Given the description of an element on the screen output the (x, y) to click on. 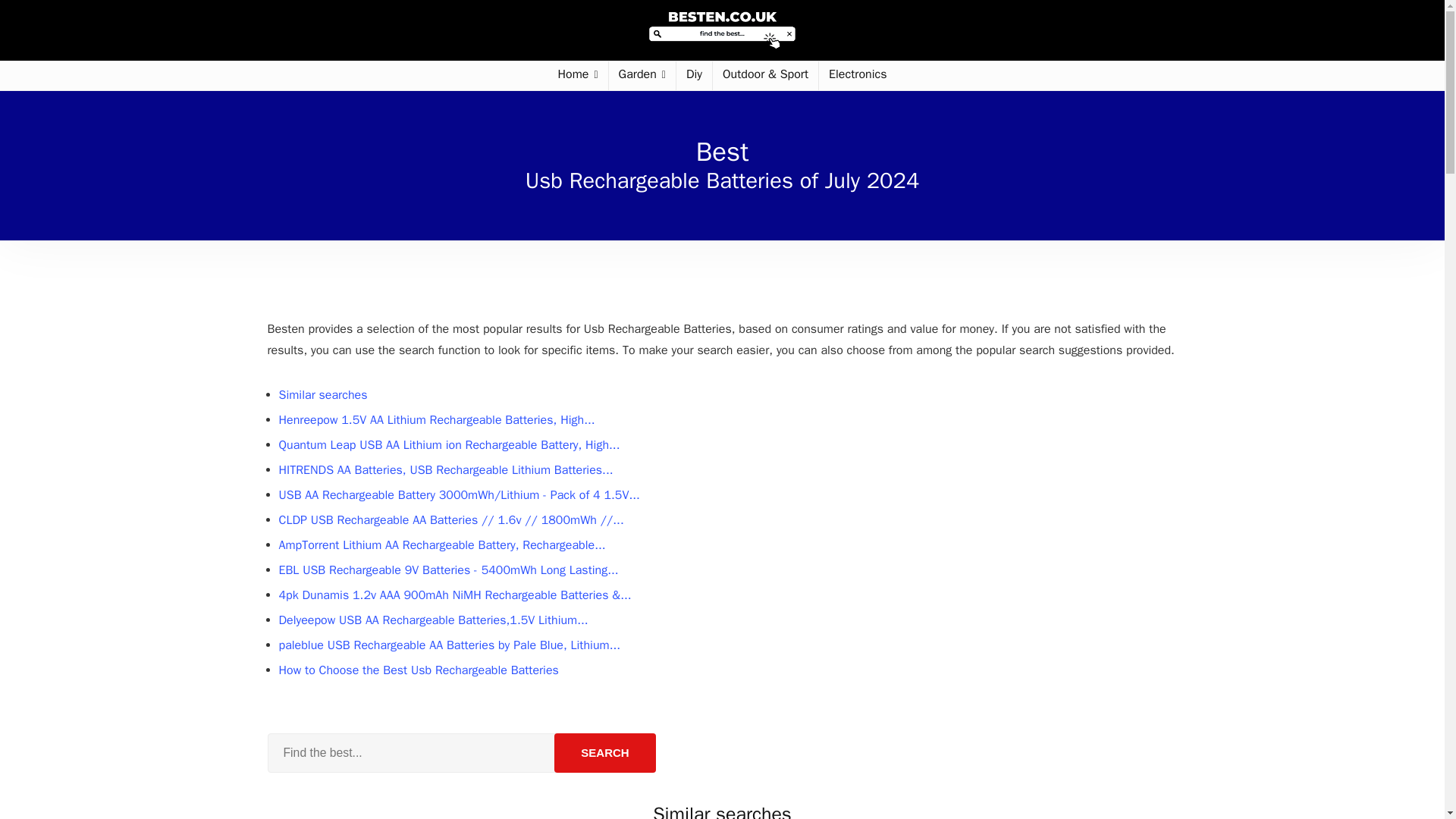
Diy (694, 75)
Garden (641, 75)
AmpTorrent Lithium AA Rechargeable Battery, Rechargeable... (442, 544)
EBL USB Rechargeable 9V Batteries - 5400mWh Long Lasting... (448, 570)
Similar searches (323, 394)
SEARCH (604, 753)
Home (578, 75)
How to Choose the Best Usb Rechargeable Batteries (419, 670)
Henreepow 1.5V AA Lithium Rechargeable Batteries, High... (437, 419)
